Given the description of an element on the screen output the (x, y) to click on. 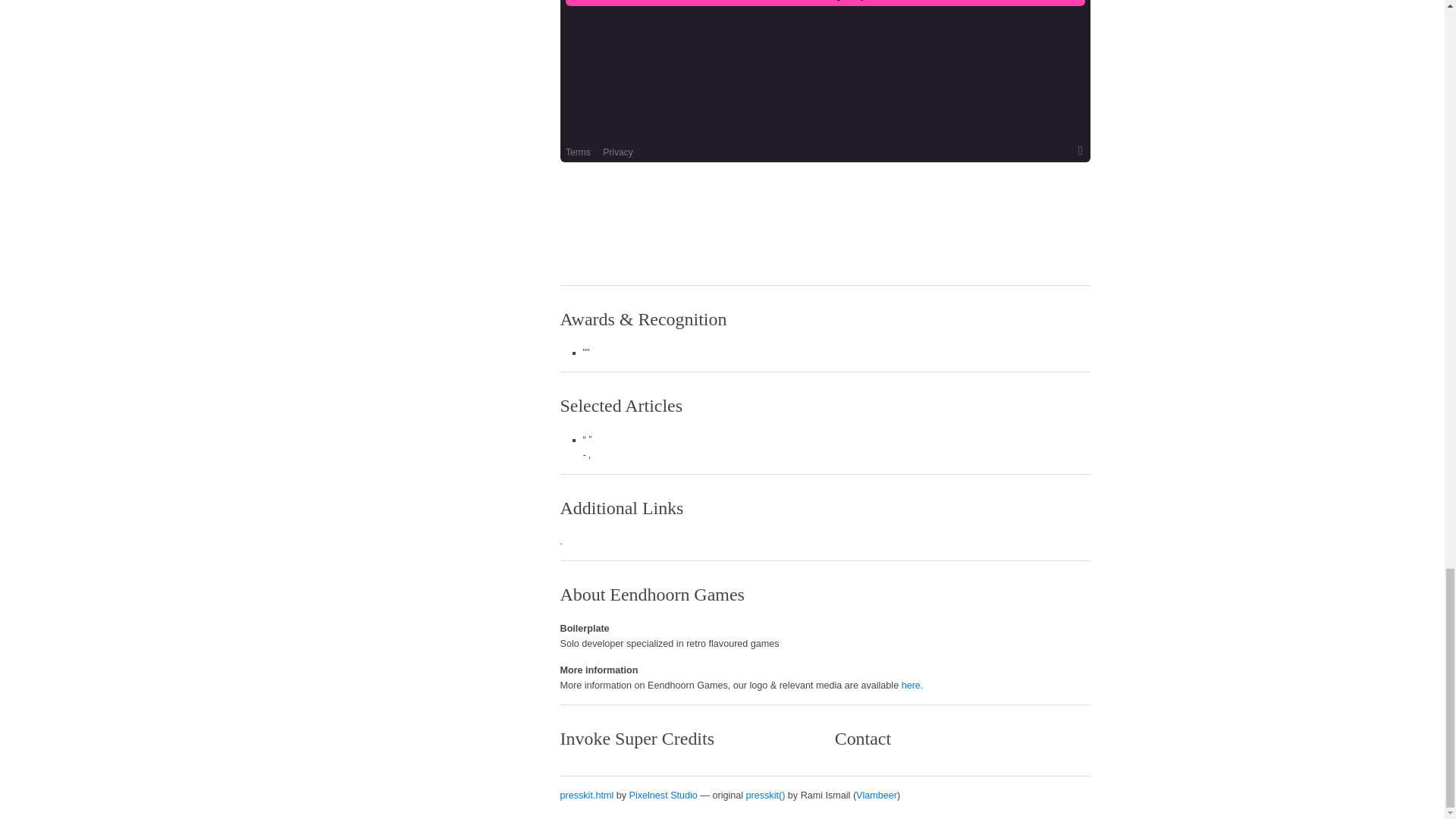
presskit.html (587, 795)
Vlambeer (876, 795)
here (910, 685)
Pixelnest Studio (662, 795)
